Given the description of an element on the screen output the (x, y) to click on. 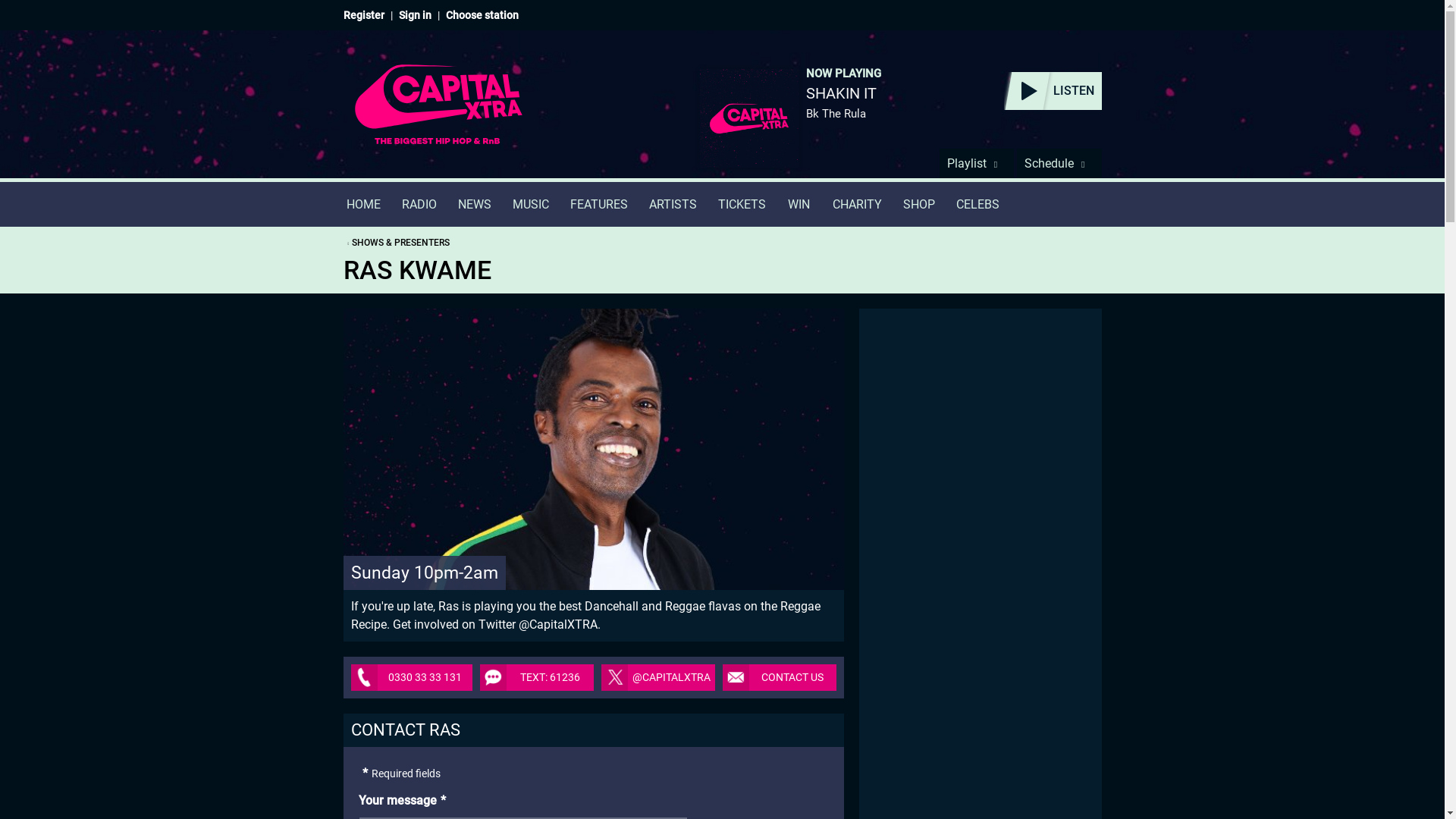
CHARITY (857, 203)
Playlist (976, 163)
WIN (799, 203)
RADIO (418, 203)
HOME (362, 203)
CONTACT US (778, 677)
Sign in (414, 15)
FEATURES (599, 203)
LISTEN (1053, 90)
Capital XTRA (437, 113)
Schedule (1058, 163)
TICKETS (741, 203)
CELEBS (976, 203)
ARTISTS (673, 203)
MUSIC (530, 203)
